Given the description of an element on the screen output the (x, y) to click on. 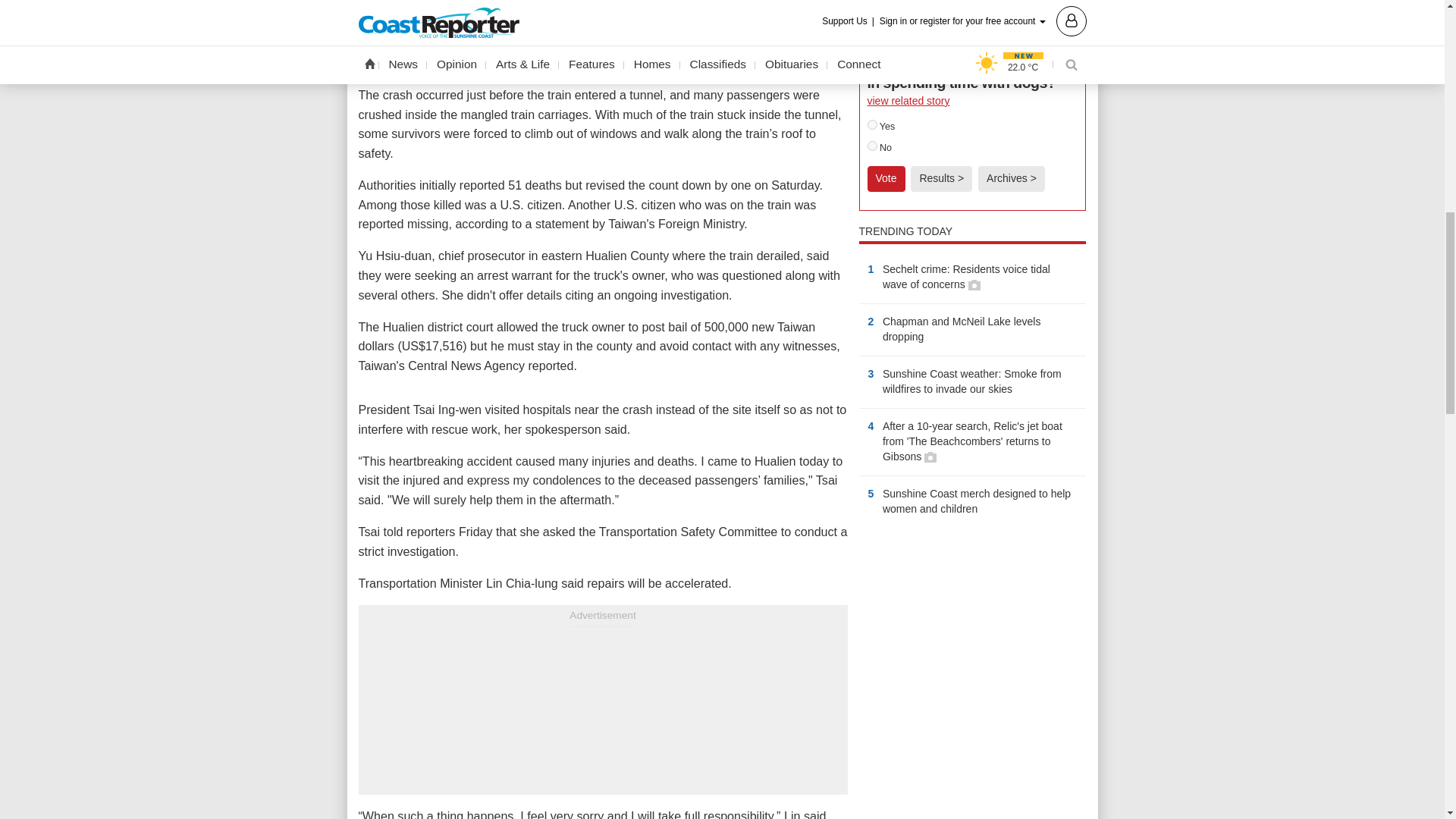
Has a gallery (973, 285)
122785 (872, 145)
Has a gallery (930, 457)
122784 (872, 124)
